Given the description of an element on the screen output the (x, y) to click on. 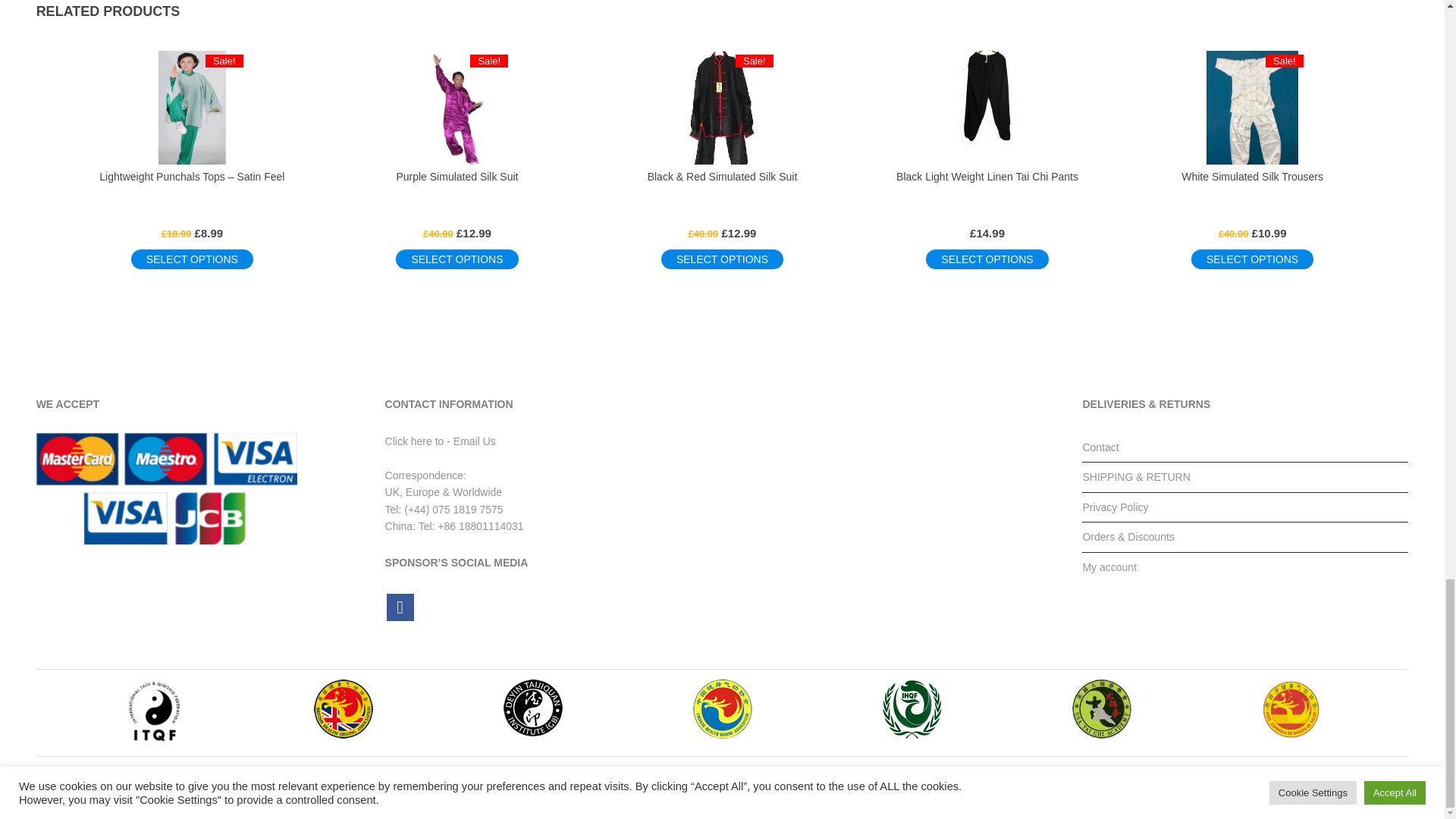
facebook (400, 606)
